Given the description of an element on the screen output the (x, y) to click on. 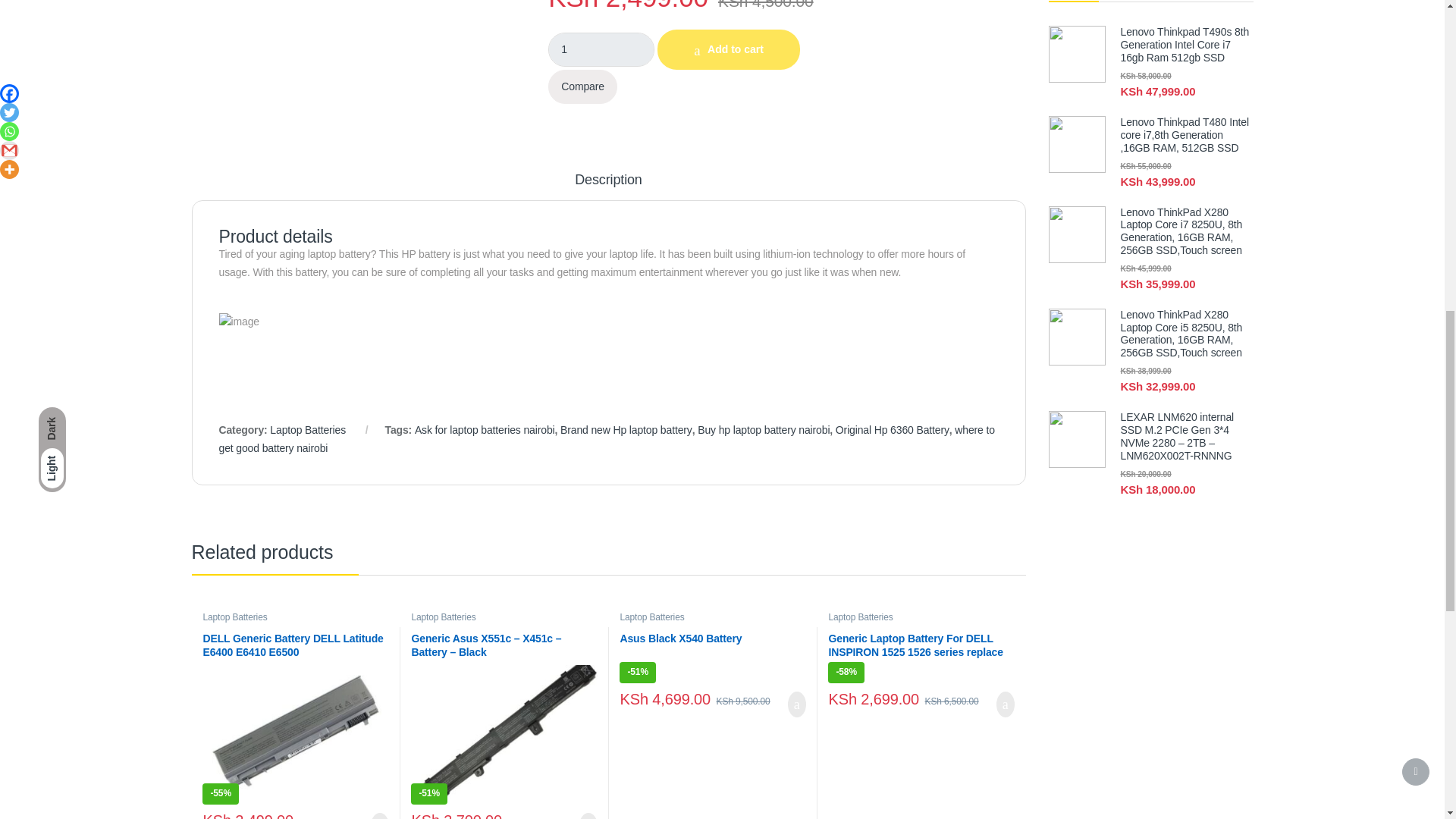
1 (600, 49)
